Given the description of an element on the screen output the (x, y) to click on. 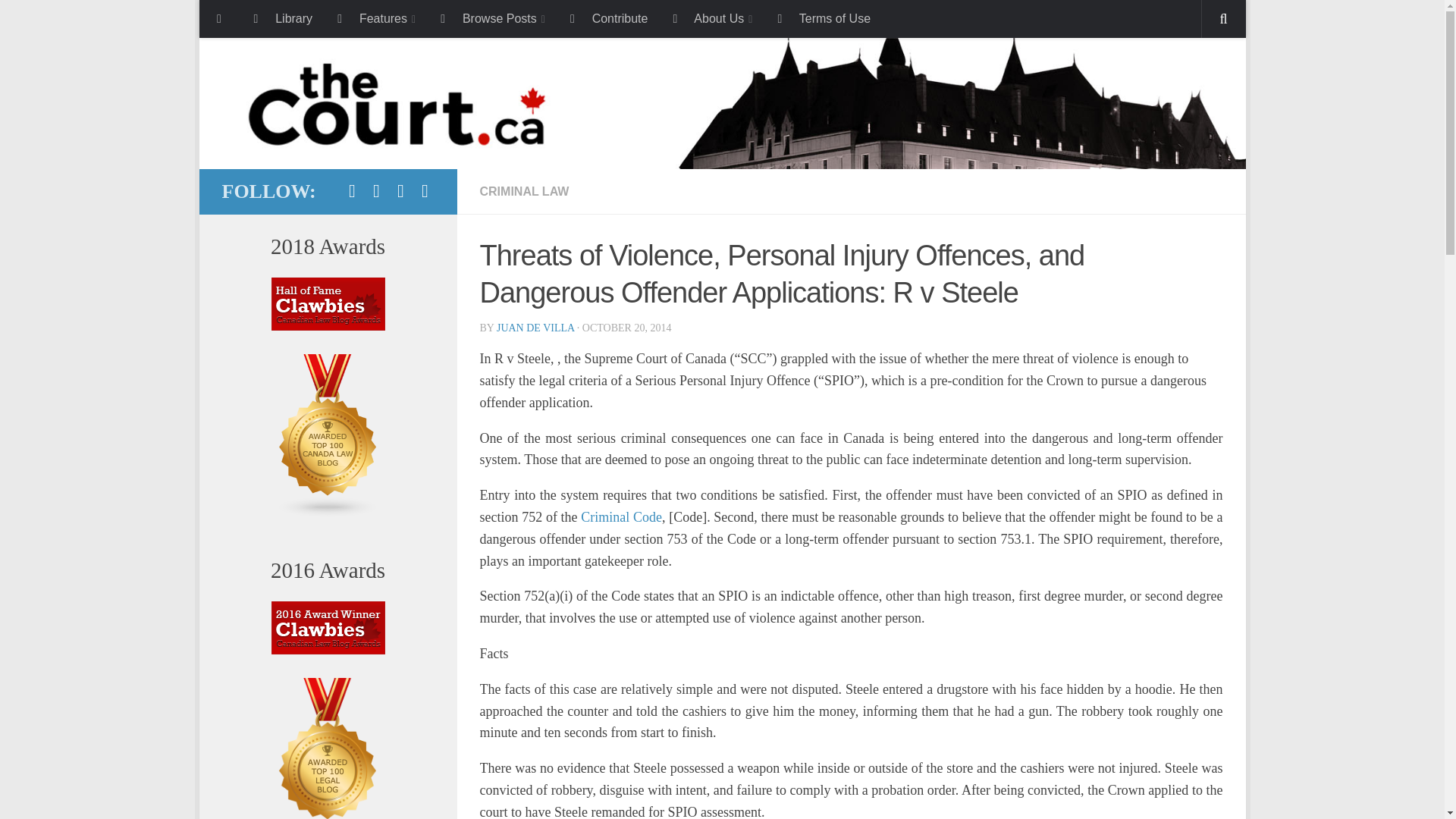
    Library (280, 18)
Posts by Juan De Villa (534, 327)
Facebook (351, 190)
YouTube (423, 190)
CRIMINAL LAW (524, 191)
Canada Law Blogs (327, 513)
Criminal Code (621, 516)
    About Us (710, 18)
Twitter (375, 190)
